Given the description of an element on the screen output the (x, y) to click on. 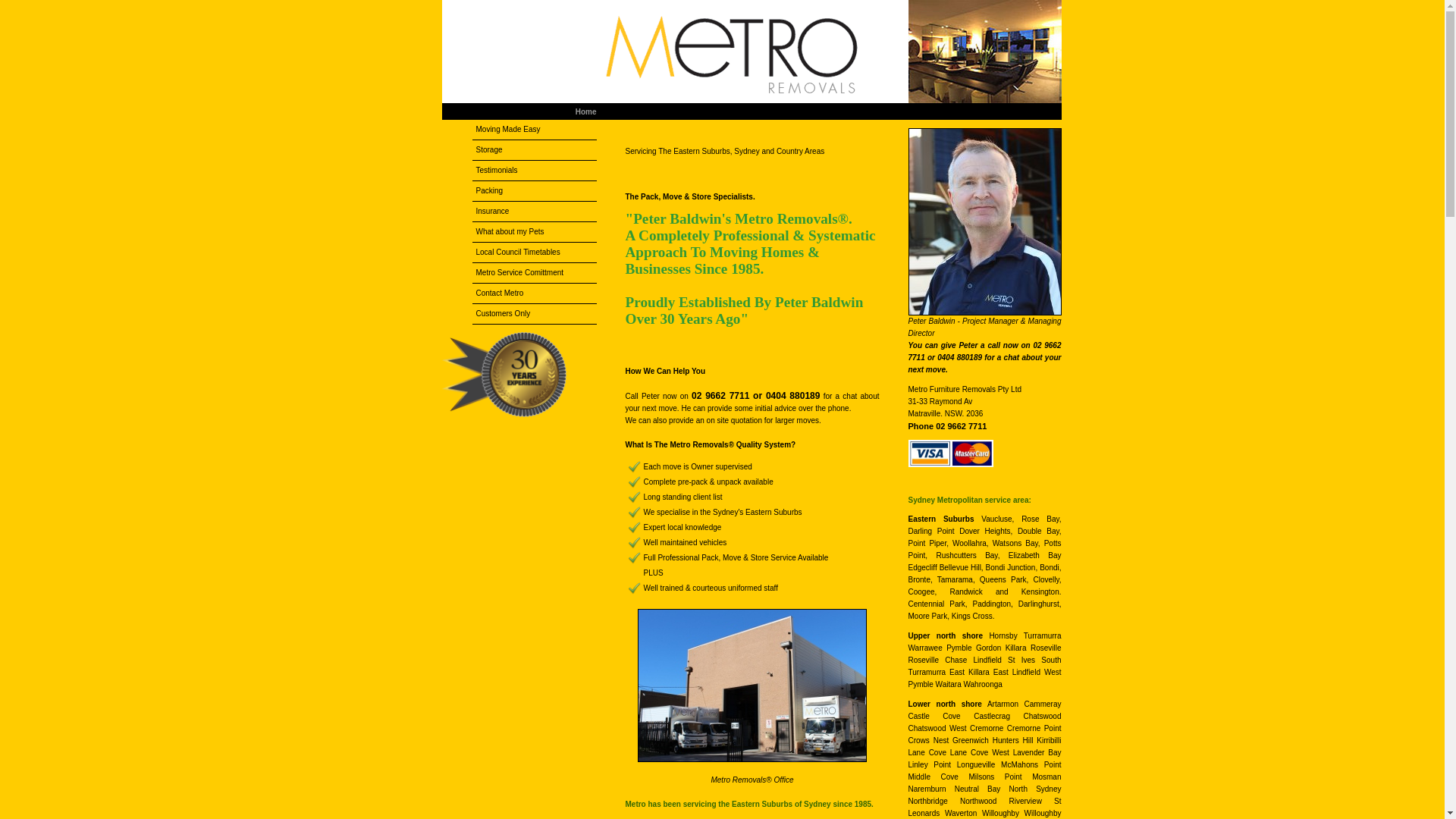
Local Council Timetables Element type: text (533, 252)
Home Element type: text (585, 111)
What about my Pets Element type: text (533, 231)
Visa_Mastercard Element type: hover (950, 453)
Contact Metro Element type: text (533, 293)
Customers Only Element type: text (533, 313)
Packing Element type: text (533, 190)
Testimonials Element type: text (533, 170)
Metro Service Comittment Element type: text (533, 272)
Moving Made Easy Element type: text (533, 129)
Storage Element type: text (533, 150)
Insurance Element type: text (533, 211)
